Given the description of an element on the screen output the (x, y) to click on. 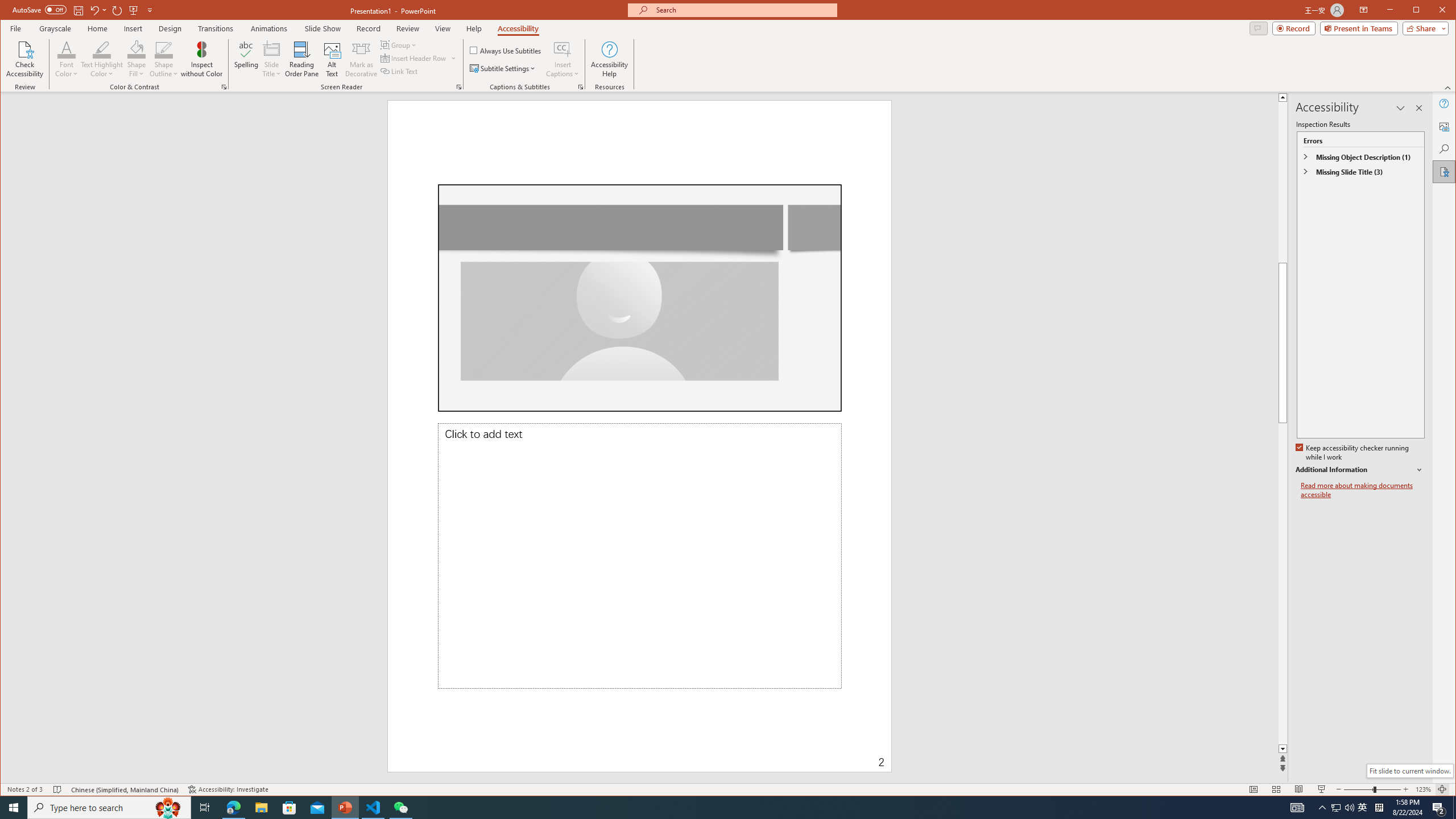
Spelling... (246, 59)
Keep accessibility checker running while I work (1352, 452)
Group (399, 44)
Insert Header Row (413, 57)
